Given the description of an element on the screen output the (x, y) to click on. 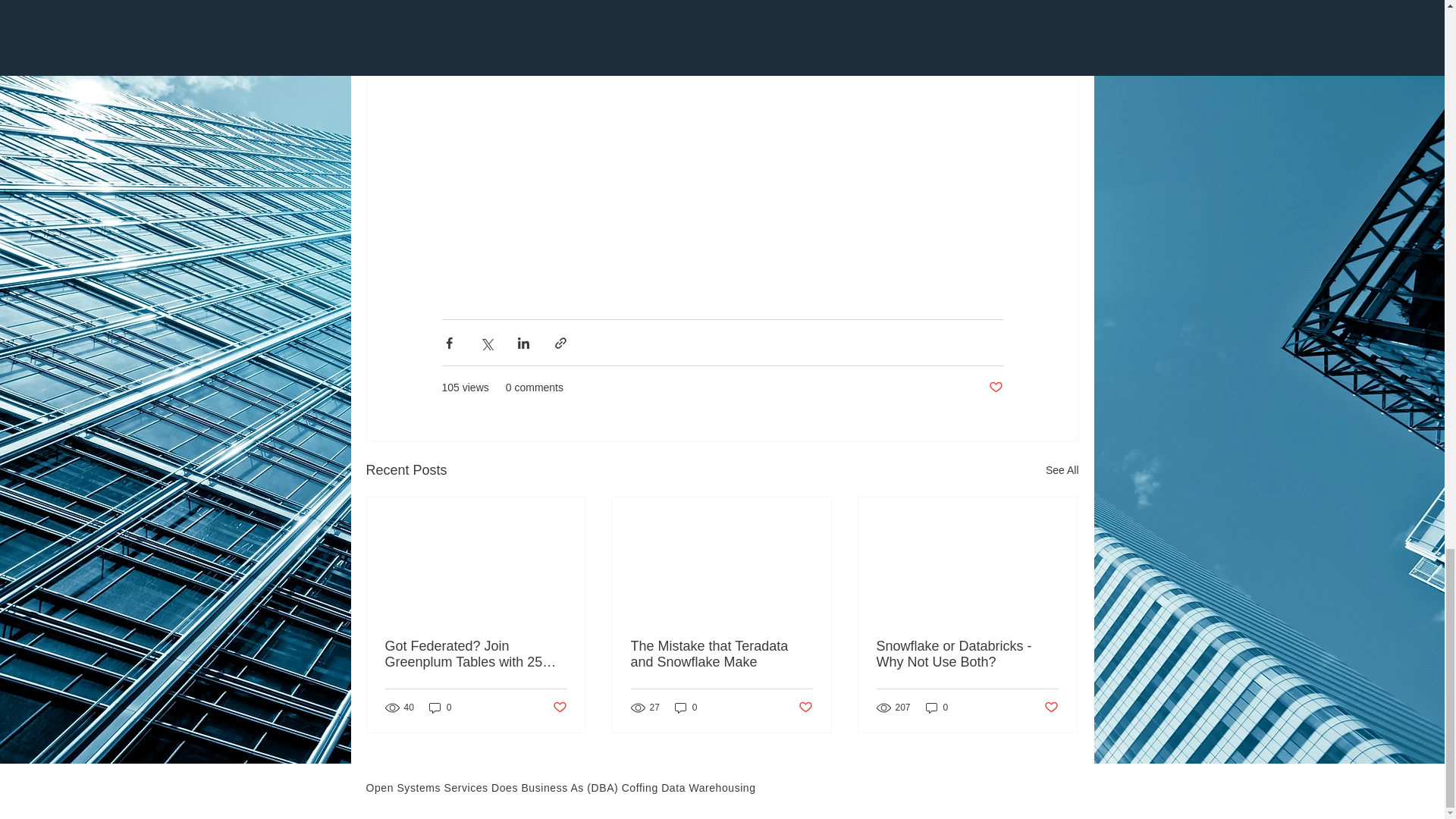
Post not marked as liked (804, 707)
0 (937, 707)
Got Federated? Join Greenplum Tables with 25 Systems (476, 654)
0 (440, 707)
Snowflake or Databricks - Why Not Use Both? (967, 654)
0 (685, 707)
The Mistake that Teradata and Snowflake Make (721, 654)
Post not marked as liked (558, 707)
See All (1061, 470)
Post not marked as liked (995, 387)
Post not marked as liked (1050, 707)
